Given the description of an element on the screen output the (x, y) to click on. 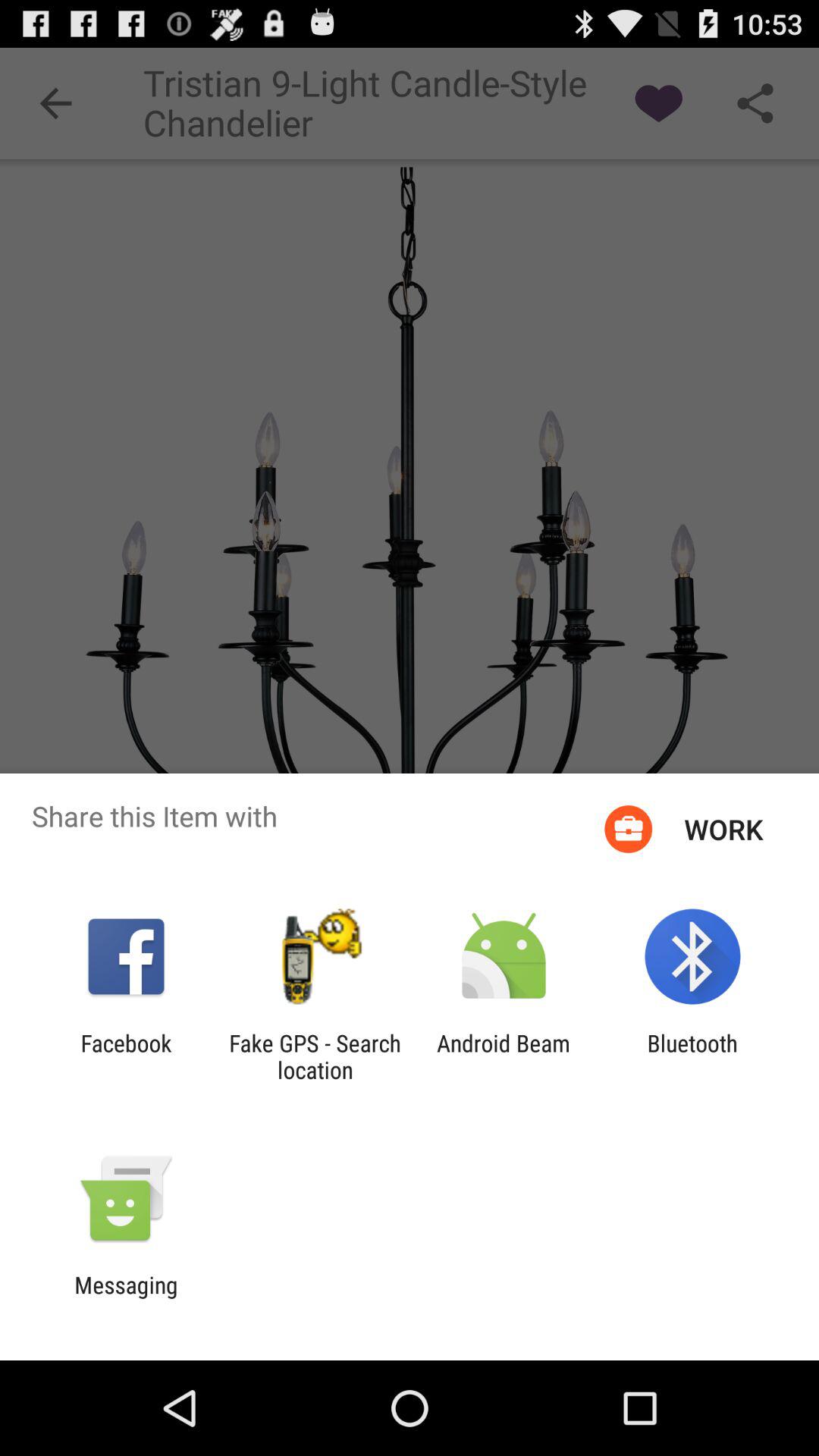
scroll until facebook icon (125, 1056)
